Given the description of an element on the screen output the (x, y) to click on. 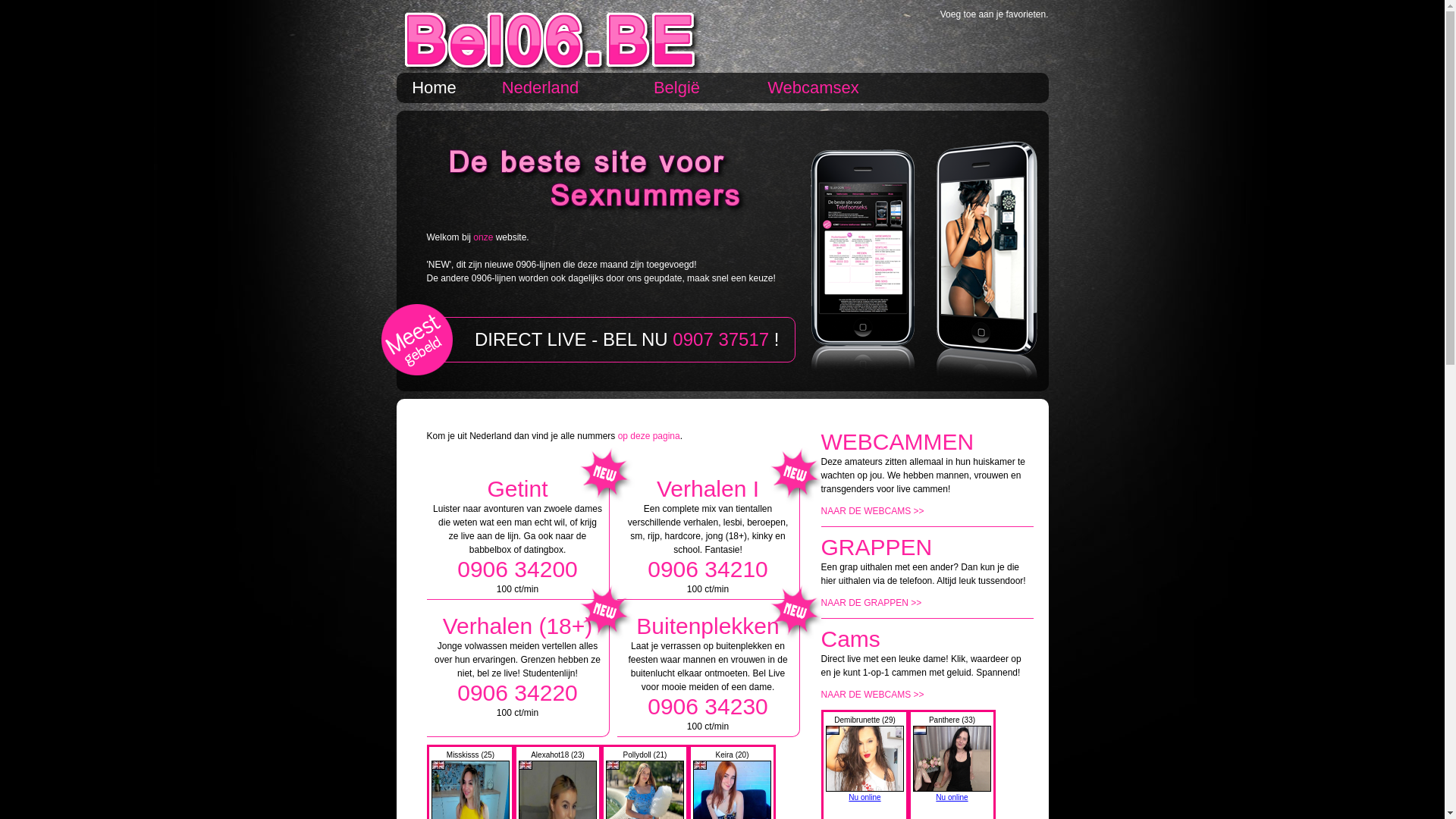
0907 37517 Element type: text (720, 339)
0906 34230 Element type: text (707, 705)
NAAR DE GRAPPEN >> Element type: text (870, 602)
Webcamsex Element type: text (812, 87)
NAAR DE WEBCAMS >> Element type: text (871, 510)
op deze pagina Element type: text (649, 435)
0906 34200 Element type: text (517, 568)
NAAR DE WEBCAMS >> Element type: text (871, 694)
Nederland Element type: text (539, 87)
0906 34220 Element type: text (517, 692)
0906 34210 Element type: text (707, 568)
Voeg toe aan je favorieten. Element type: text (994, 14)
Home Element type: text (433, 87)
onze Element type: text (482, 237)
